Given the description of an element on the screen output the (x, y) to click on. 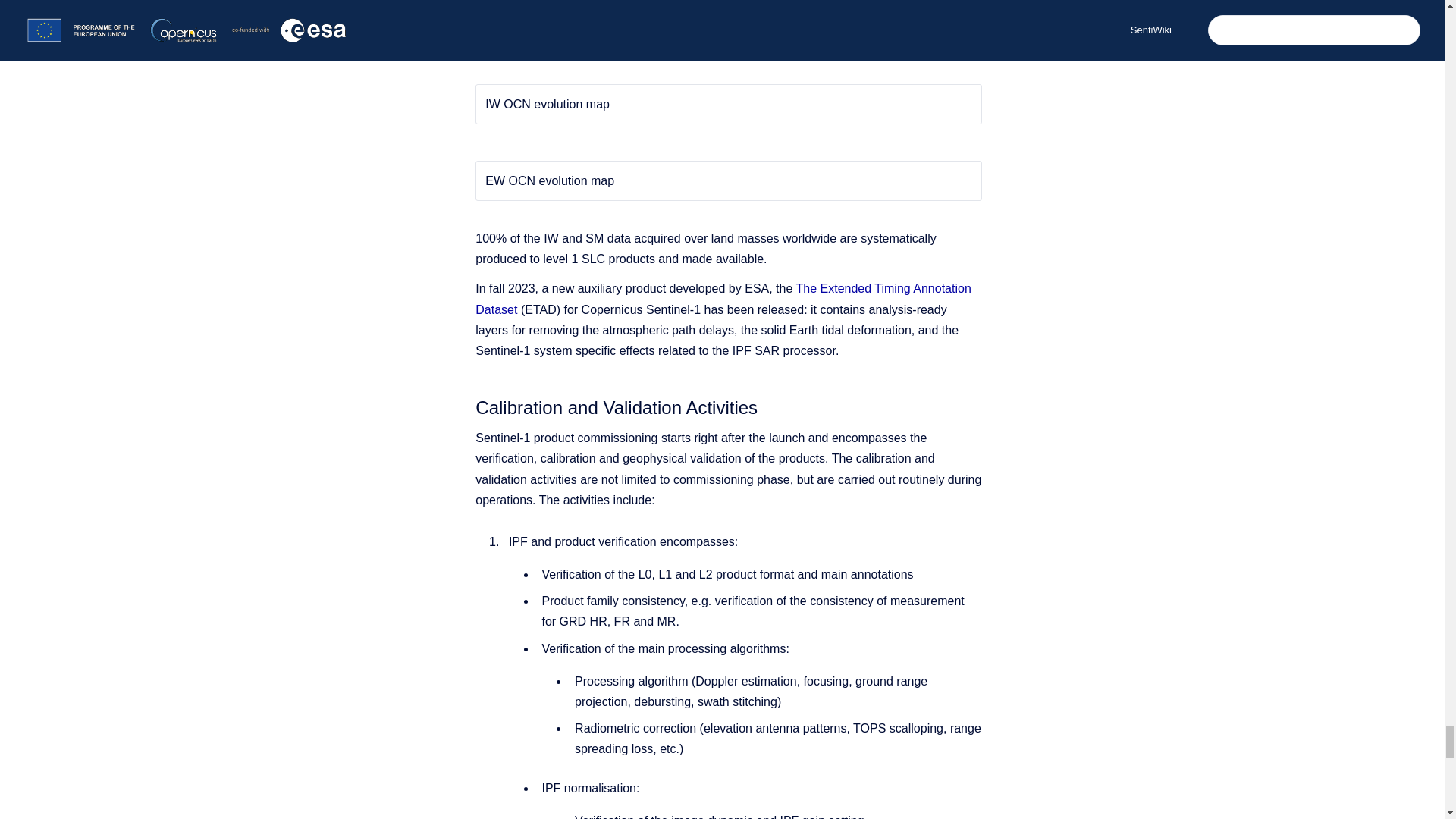
The Extended Timing Annotation Dataset (723, 298)
